Given the description of an element on the screen output the (x, y) to click on. 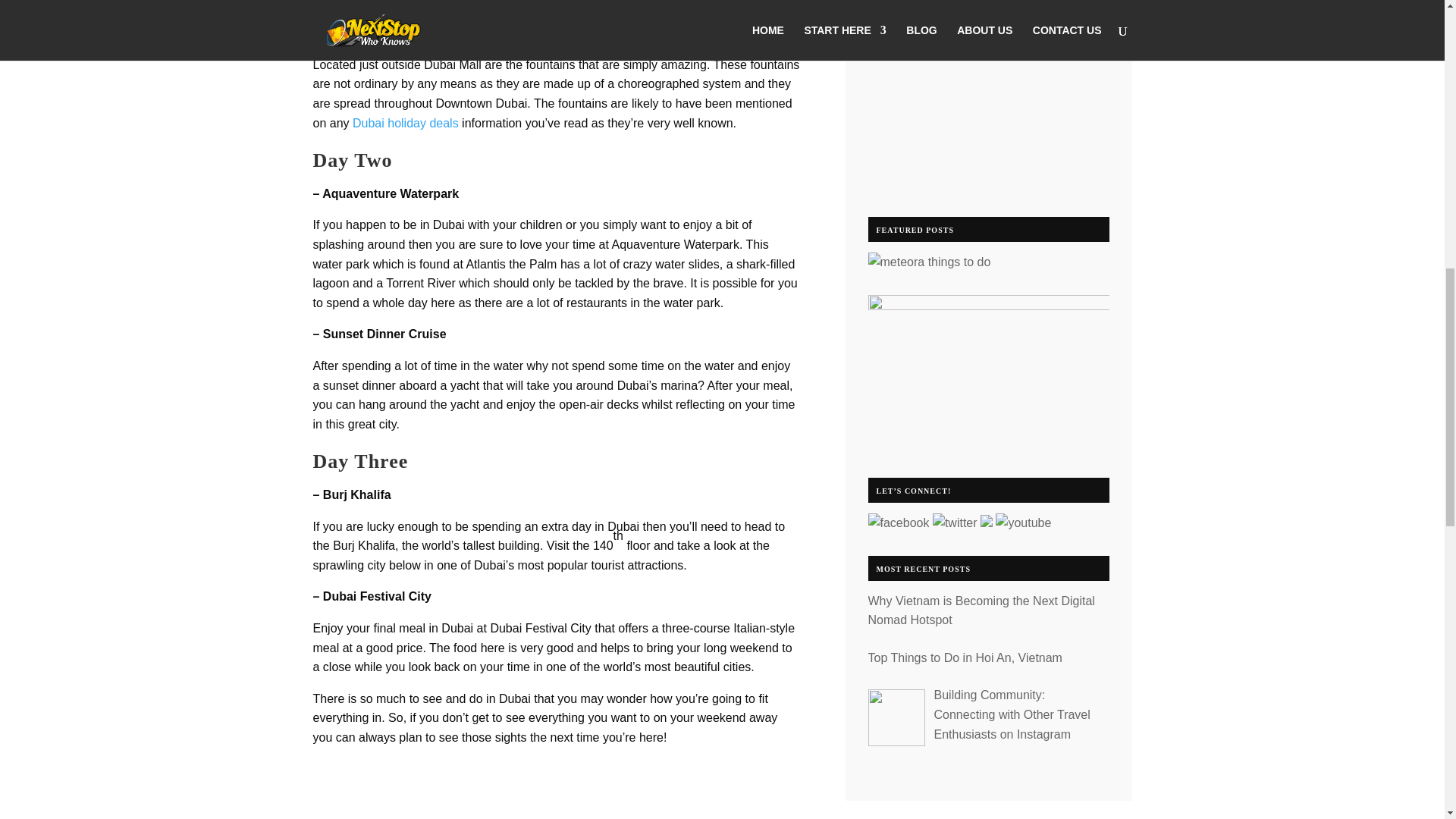
Why Vietnam is Becoming the Next Digital Nomad Hotspot (980, 610)
Top Things to Do in Hoi An, Vietnam (964, 657)
Dubai holiday deals (405, 123)
